Given the description of an element on the screen output the (x, y) to click on. 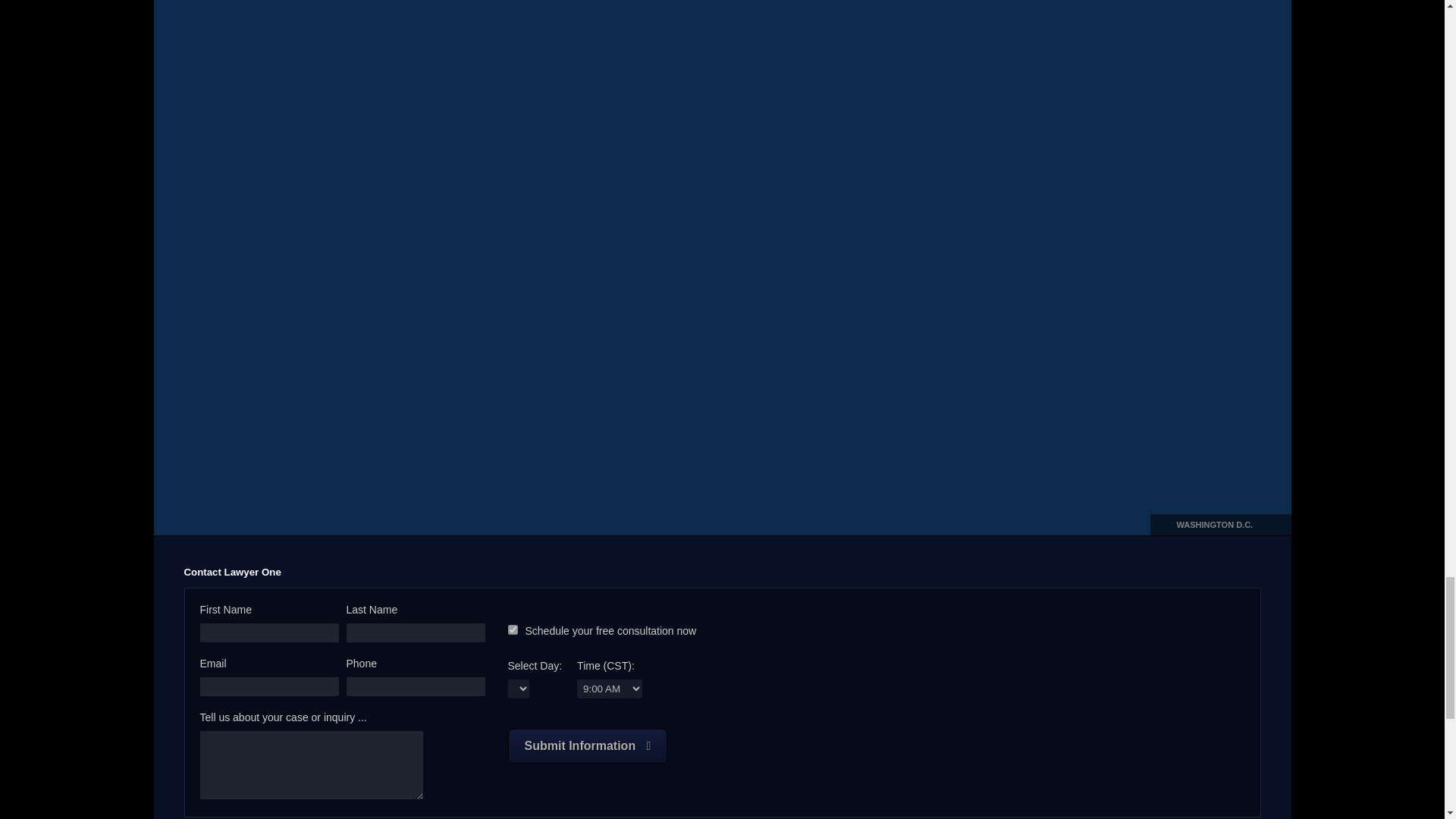
yes (513, 629)
Submit Information (588, 745)
